Given the description of an element on the screen output the (x, y) to click on. 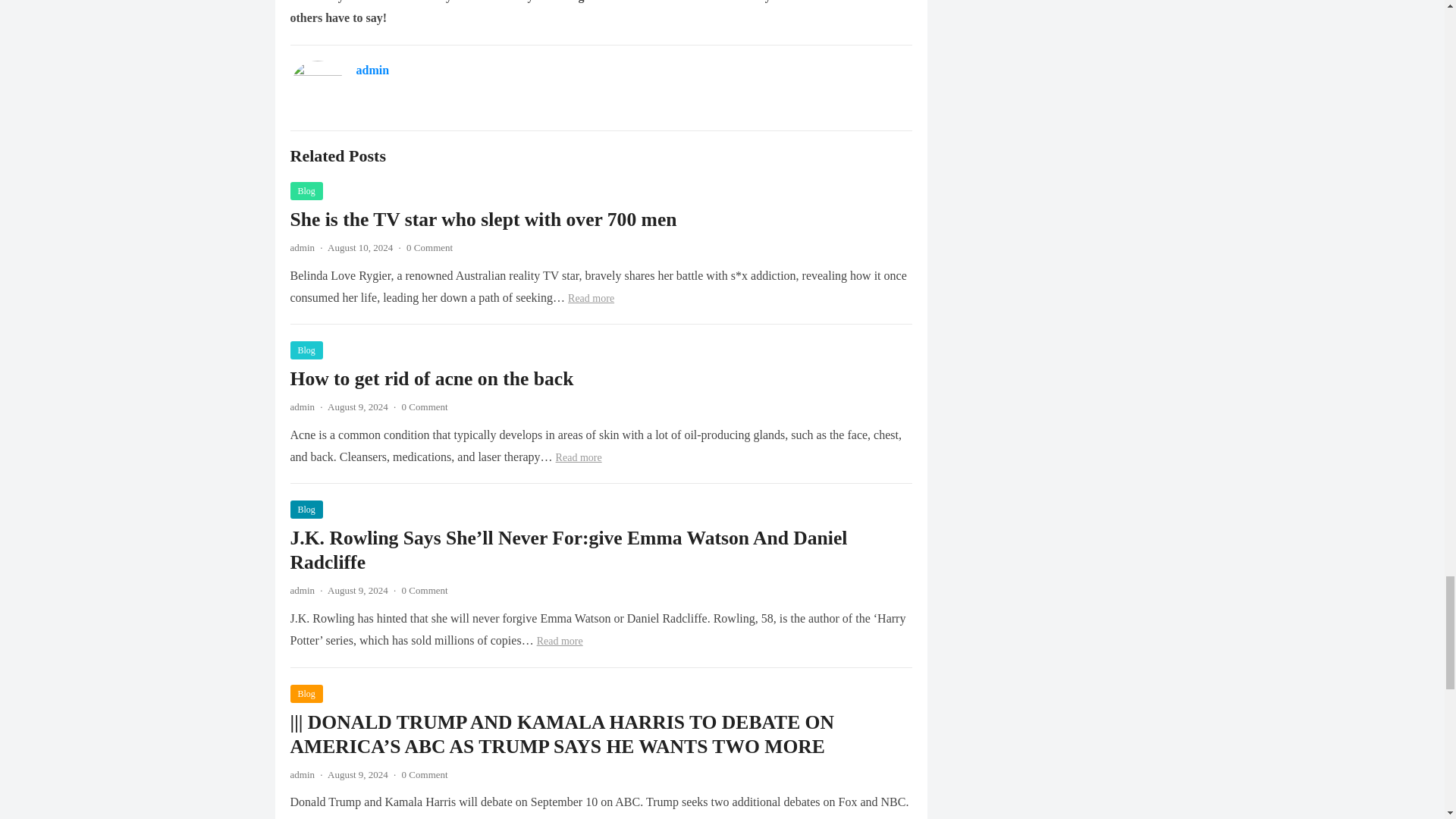
Blog (305, 350)
Posts by admin (301, 590)
0 Comment (429, 247)
admin (301, 774)
Blog (305, 509)
admin (301, 247)
0 Comment (424, 590)
Blog (305, 693)
Posts by admin (301, 406)
Blog (305, 190)
